Given the description of an element on the screen output the (x, y) to click on. 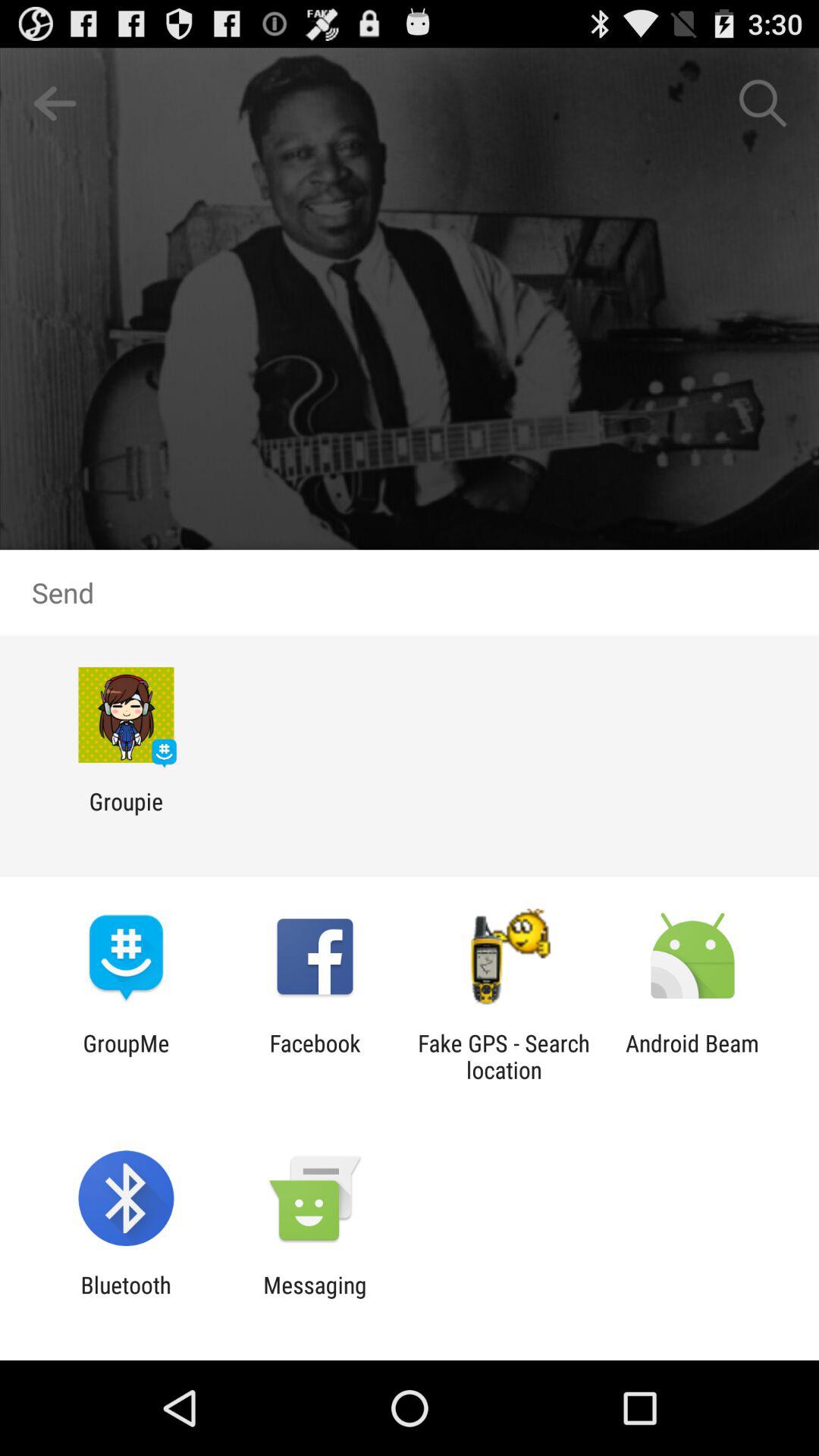
flip to the android beam item (692, 1056)
